Given the description of an element on the screen output the (x, y) to click on. 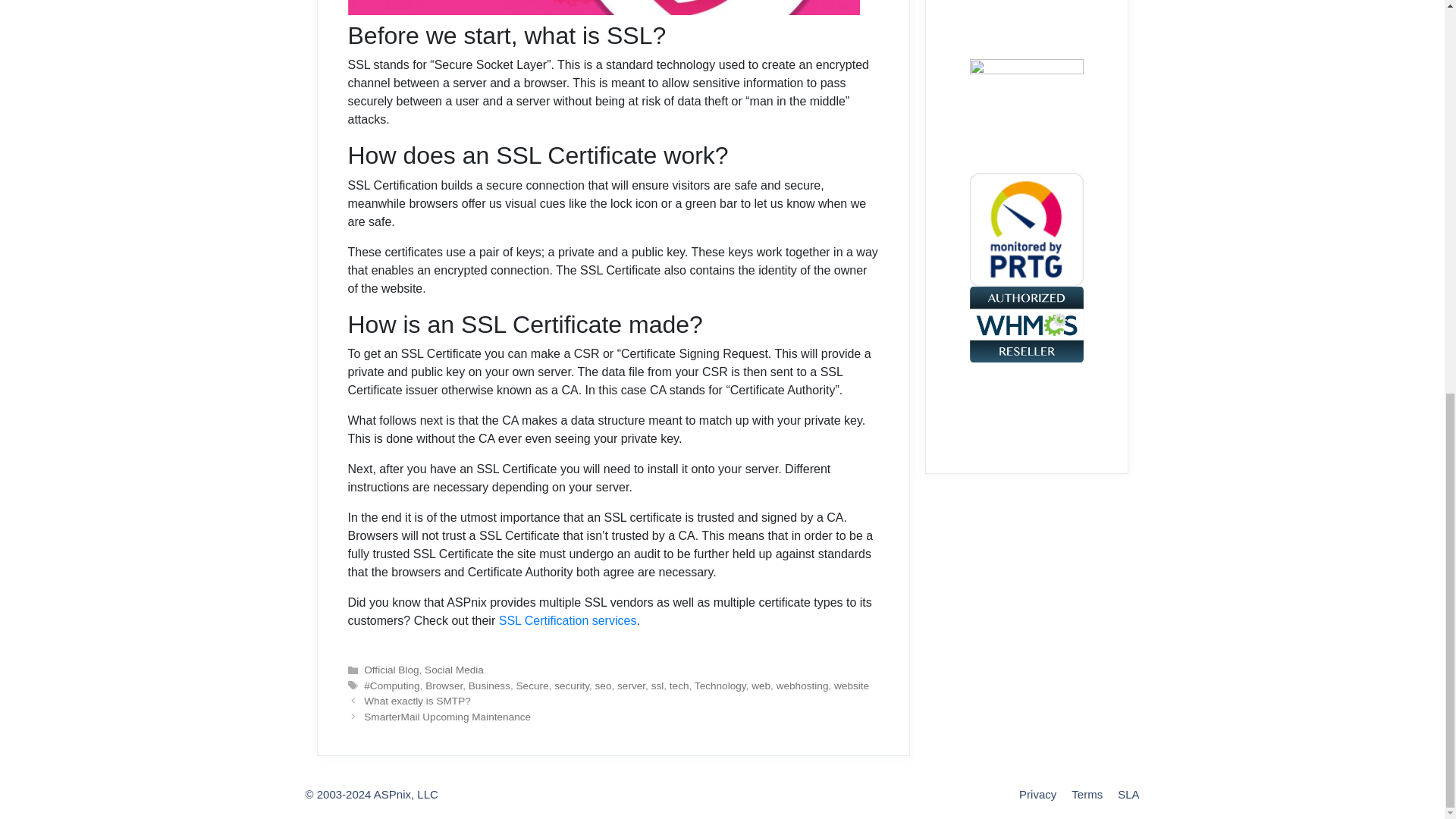
SSL Certification services (568, 620)
seo (603, 685)
Official Blog (391, 669)
Secure (532, 685)
Social Media (454, 669)
security (571, 685)
Browser (444, 685)
server (631, 685)
Business (489, 685)
